Given the description of an element on the screen output the (x, y) to click on. 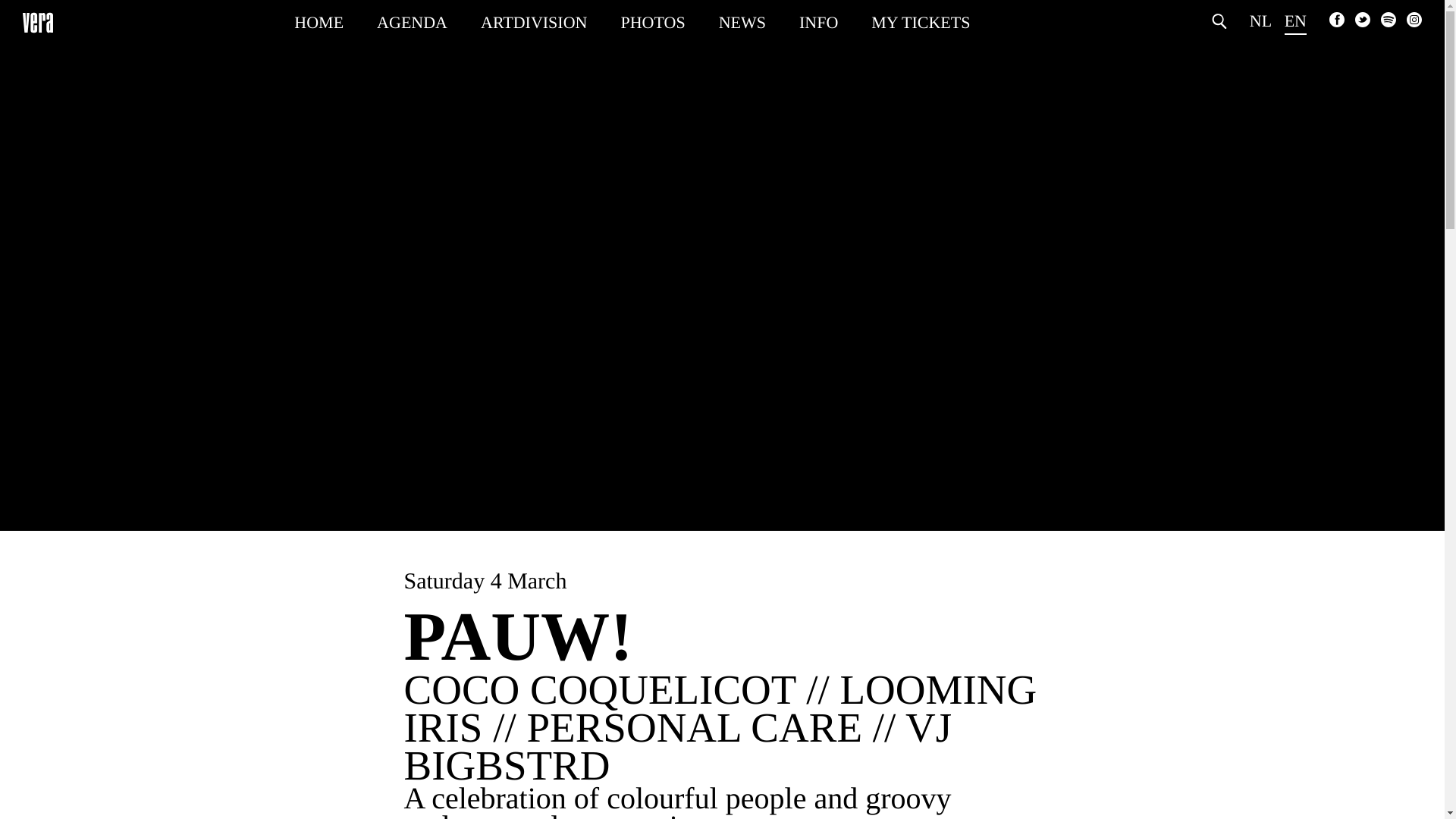
ARTDIVISION (533, 18)
INFO (818, 18)
MY TICKETS (919, 18)
HOME (318, 18)
AGENDA (411, 18)
NEWS (742, 18)
PHOTOS (652, 18)
